Given the description of an element on the screen output the (x, y) to click on. 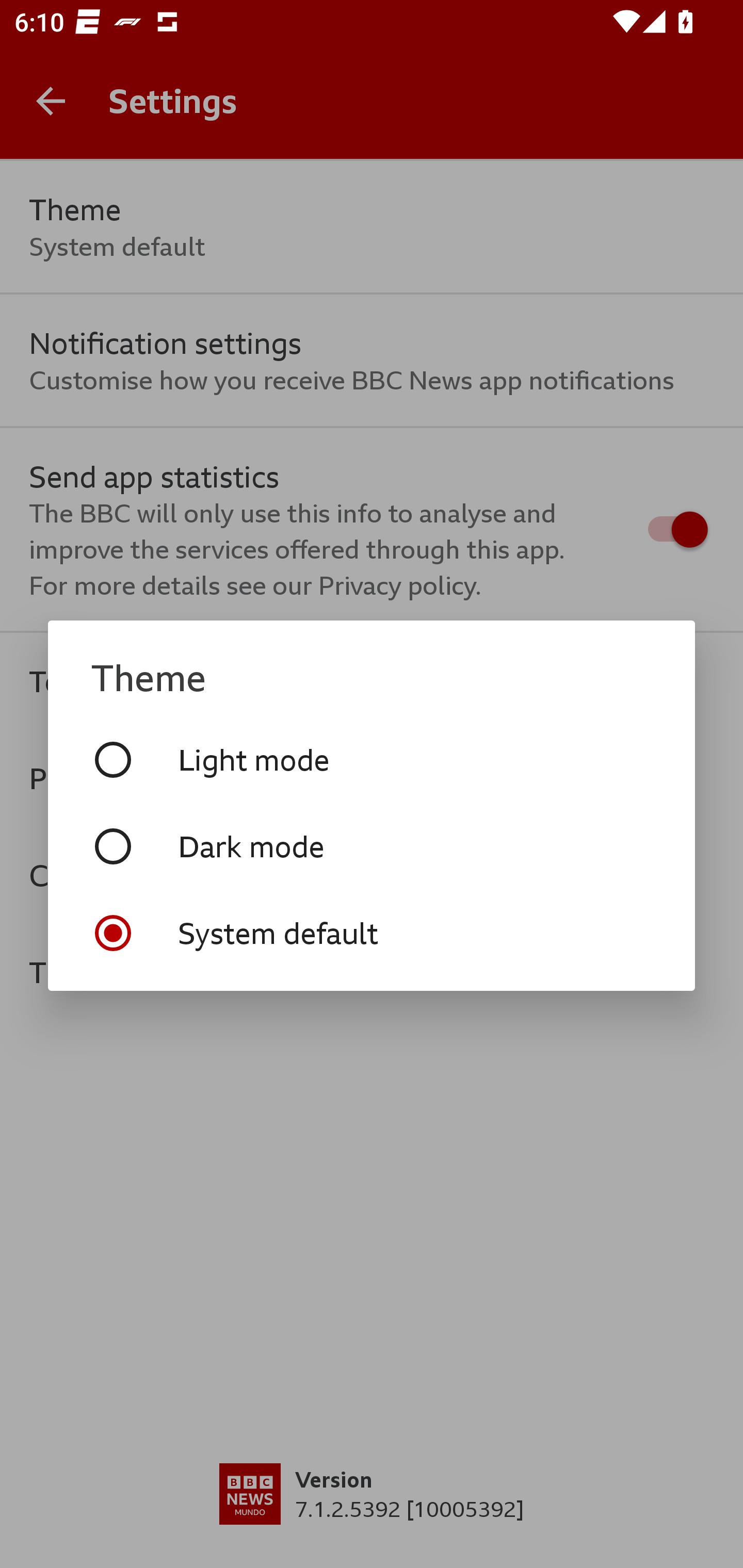
Light mode (371, 759)
Dark mode (371, 845)
System default (371, 932)
